Given the description of an element on the screen output the (x, y) to click on. 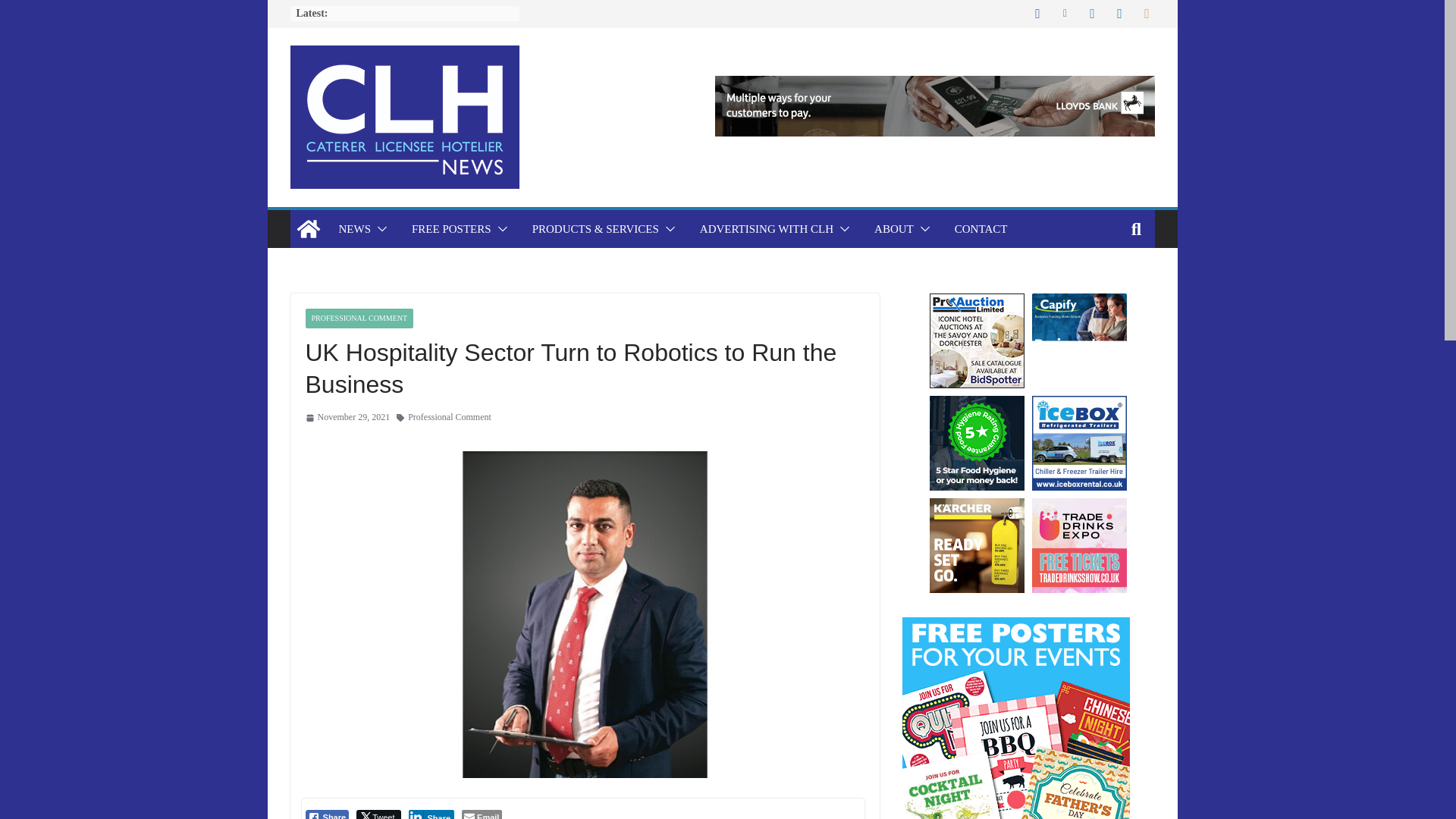
NEWS (354, 228)
CLH News: Caterer, Licensee and Hotelier News (307, 228)
FREE POSTERS (452, 228)
3:54 pm (347, 417)
